Given the description of an element on the screen output the (x, y) to click on. 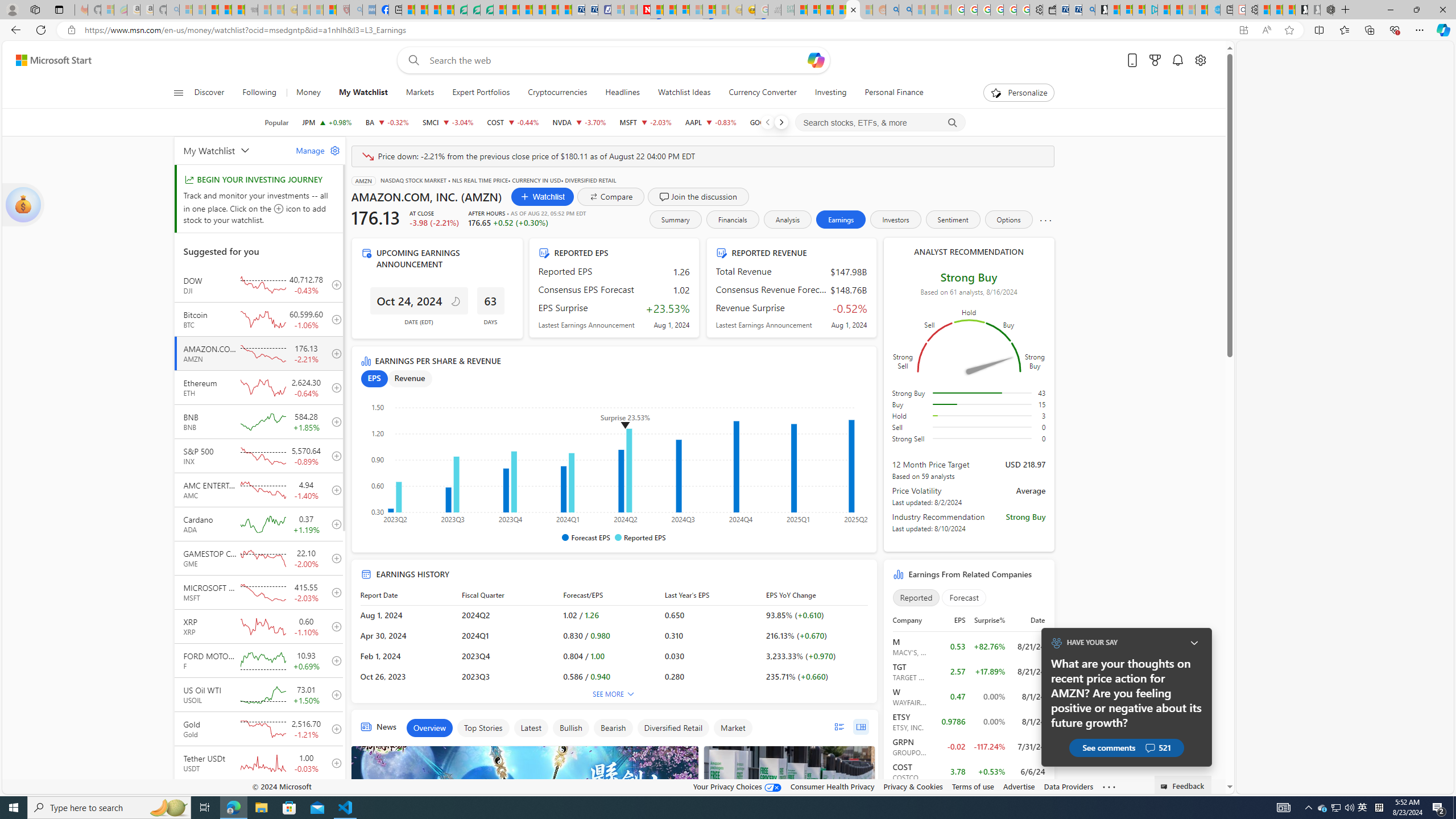
Markets (419, 92)
World - MSN (434, 9)
Class: oneFooter_seeMore-DS-EntryPoint1-1 (1108, 786)
Home | Sky Blue Bikes - Sky Blue Bikes (1213, 9)
Cryptocurrencies (557, 92)
Next (780, 122)
